Given the description of an element on the screen output the (x, y) to click on. 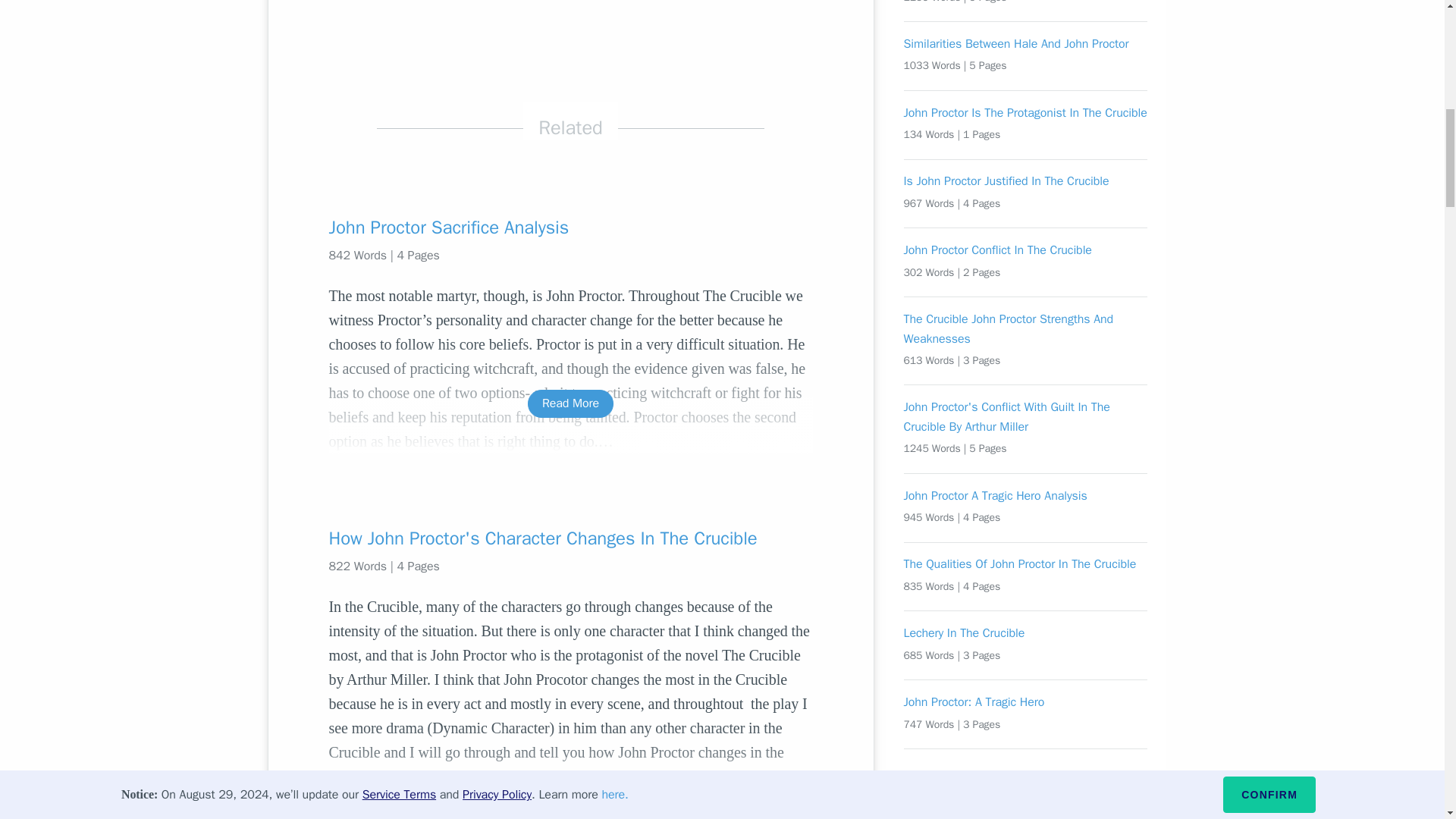
How John Proctor's Character Changes In The Crucible (570, 538)
Read More (569, 403)
Read More (569, 787)
John Proctor Sacrifice Analysis (570, 227)
